Given the description of an element on the screen output the (x, y) to click on. 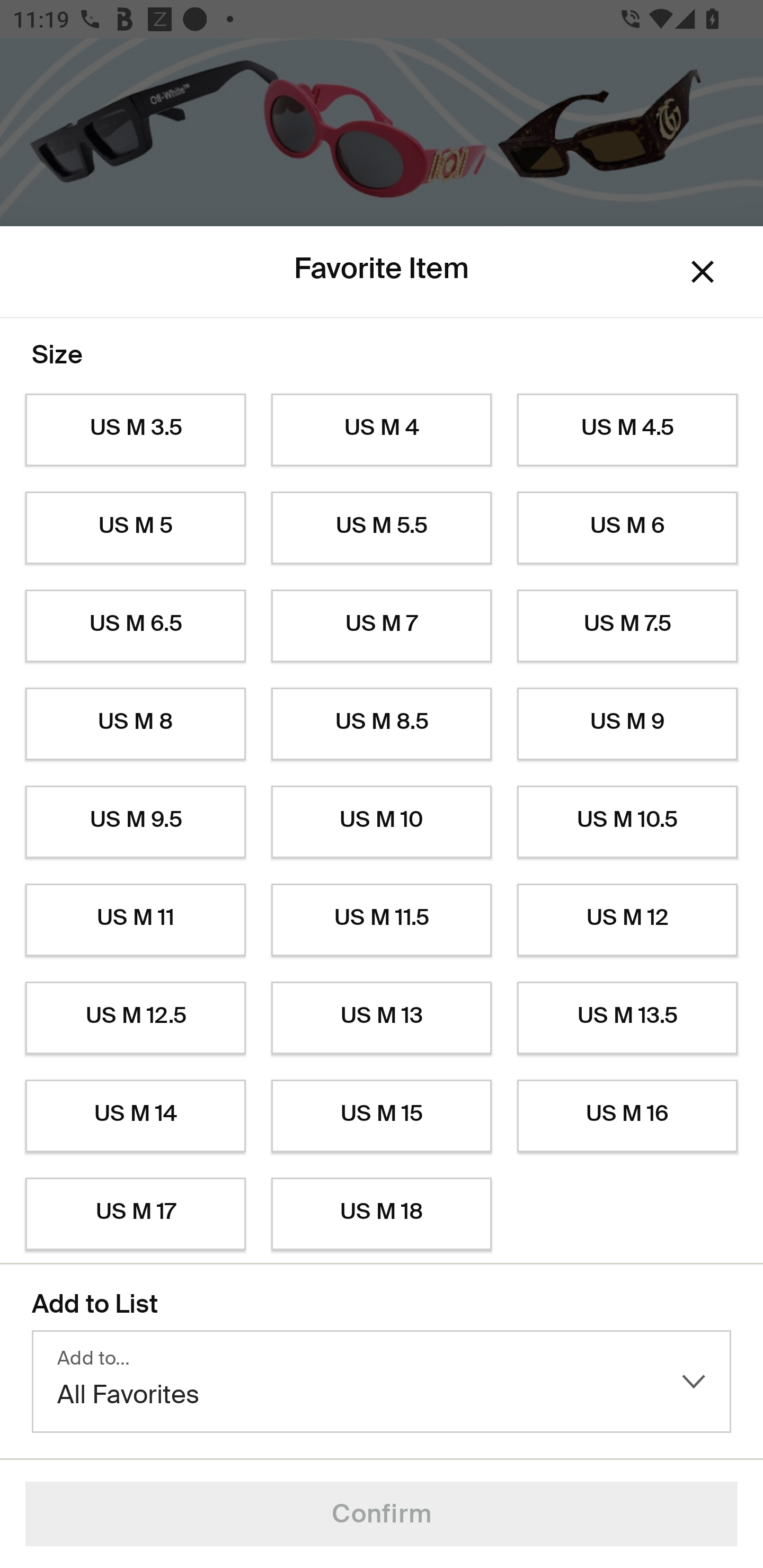
Dismiss (702, 271)
US M 3.5 (135, 430)
US M 4 (381, 430)
US M 4.5 (627, 430)
US M 5 (135, 527)
US M 5.5 (381, 527)
US M 6 (627, 527)
US M 6.5 (135, 626)
US M 7 (381, 626)
US M 7.5 (627, 626)
US M 8 (135, 724)
US M 8.5 (381, 724)
US M 9 (627, 724)
US M 9.5 (135, 822)
US M 10 (381, 822)
US M 10.5 (627, 822)
US M 11 (135, 919)
US M 11.5 (381, 919)
US M 12 (627, 919)
US M 12.5 (135, 1018)
US M 13 (381, 1018)
US M 13.5 (627, 1018)
US M 14 (135, 1116)
US M 15 (381, 1116)
US M 16 (627, 1116)
US M 17 (135, 1214)
US M 18 (381, 1214)
Add to… All Favorites (381, 1381)
Confirm (381, 1513)
